Given the description of an element on the screen output the (x, y) to click on. 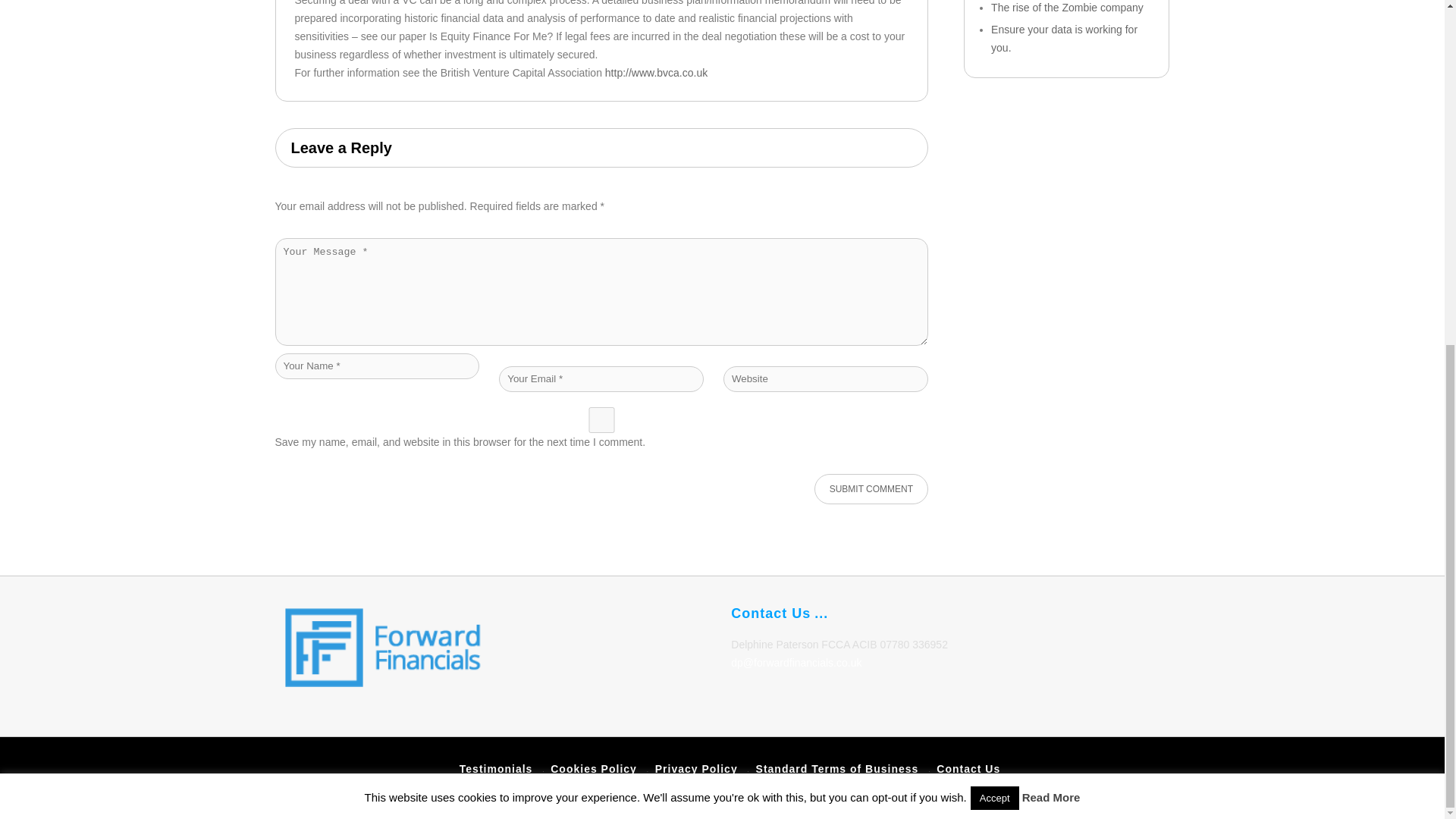
Ensure your data is working for you. (1064, 38)
Standard Terms of Business (836, 768)
Testimonials (496, 768)
Read More (1051, 206)
Cookies Policy (593, 768)
Contact Us (968, 768)
Accept (995, 208)
Submit Comment (870, 489)
The rise of the Zombie company (1066, 7)
The Digital Studios (1109, 794)
